Given the description of an element on the screen output the (x, y) to click on. 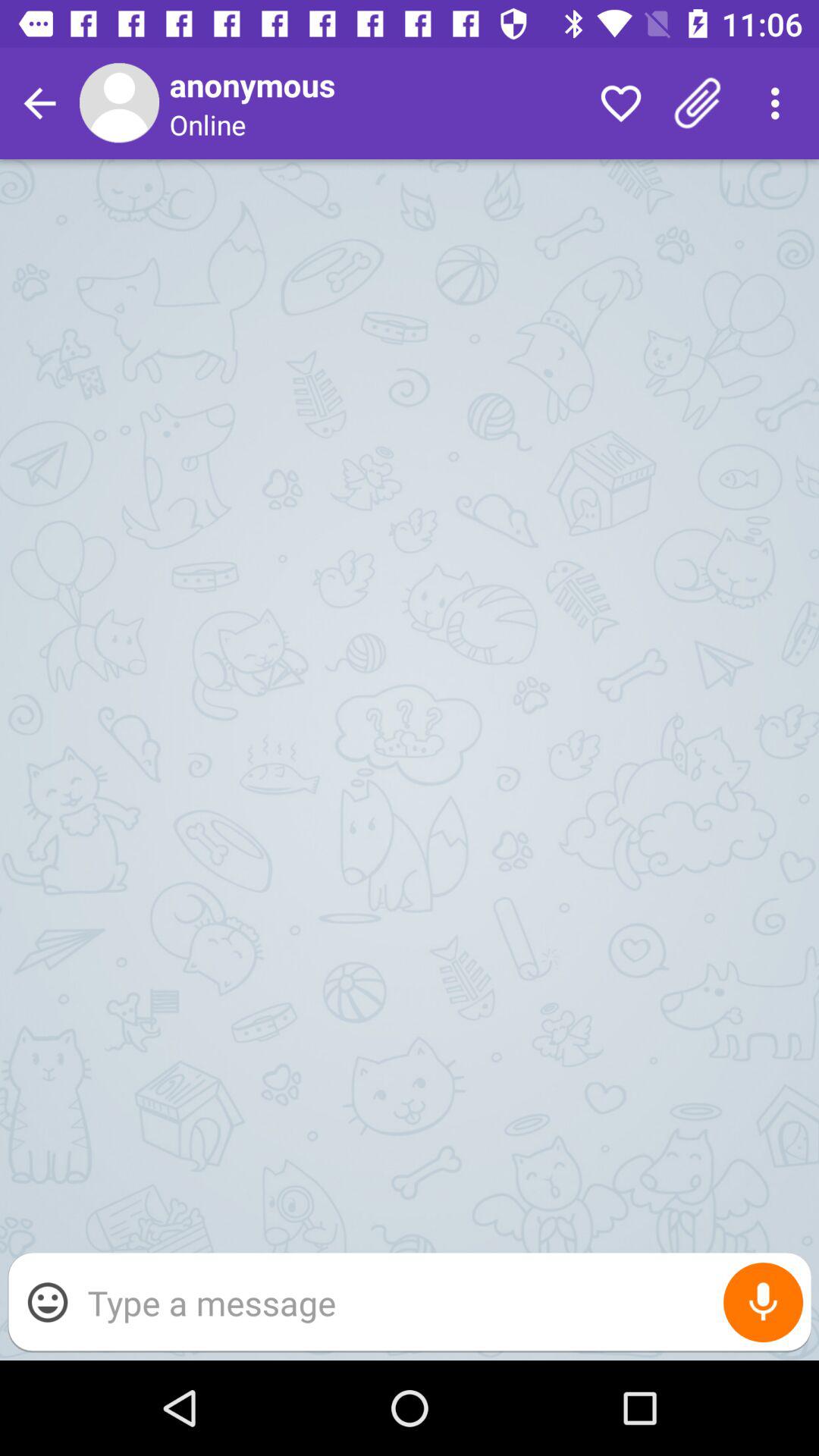
turn back to the previous screan (39, 103)
